Given the description of an element on the screen output the (x, y) to click on. 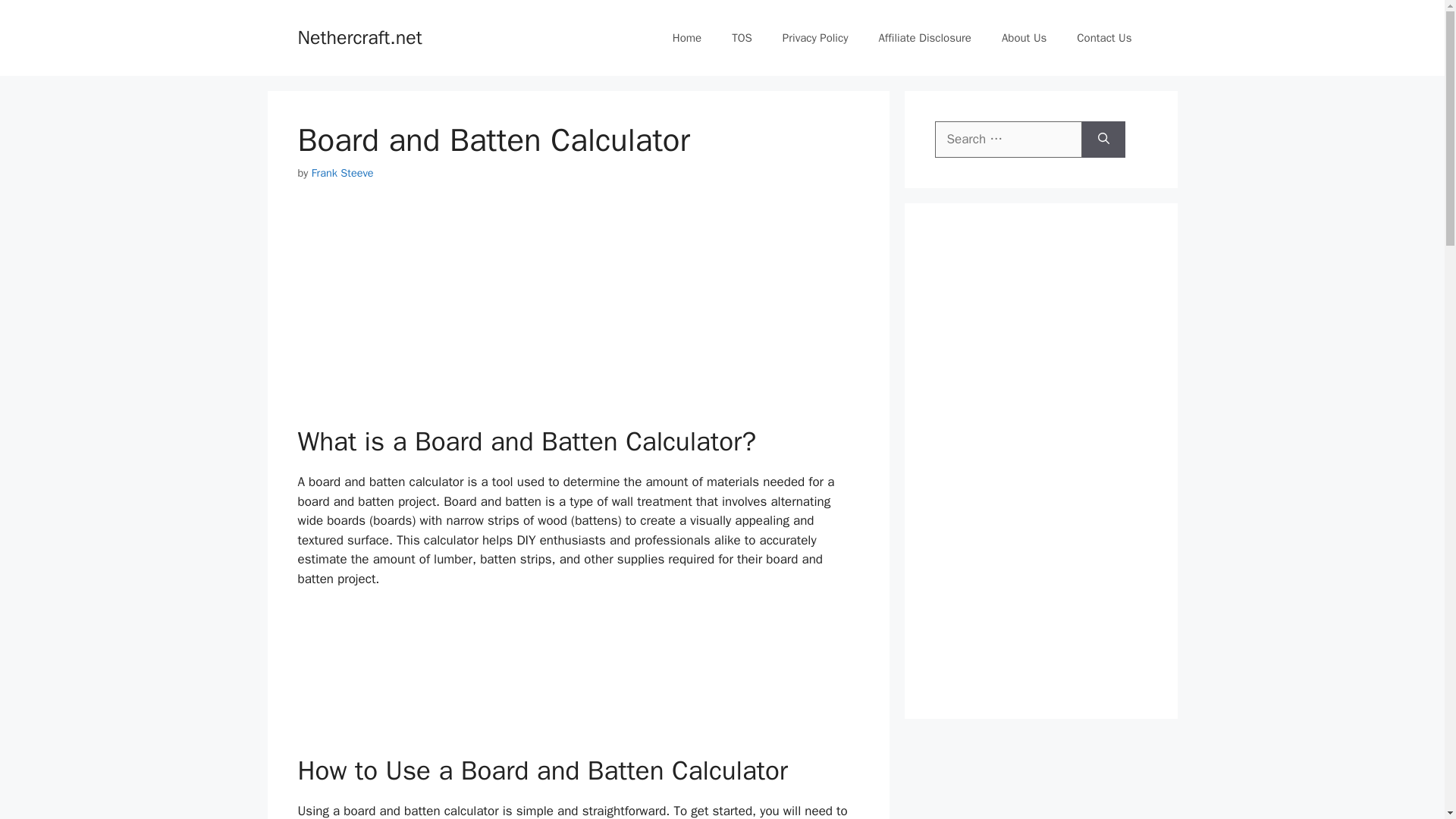
Frank Steeve (342, 172)
Affiliate Disclosure (925, 37)
About Us (1024, 37)
Search for: (1007, 139)
Advertisement (578, 313)
TOS (741, 37)
Home (687, 37)
Advertisement (578, 678)
Contact Us (1104, 37)
View all posts by Frank Steeve (342, 172)
